Given the description of an element on the screen output the (x, y) to click on. 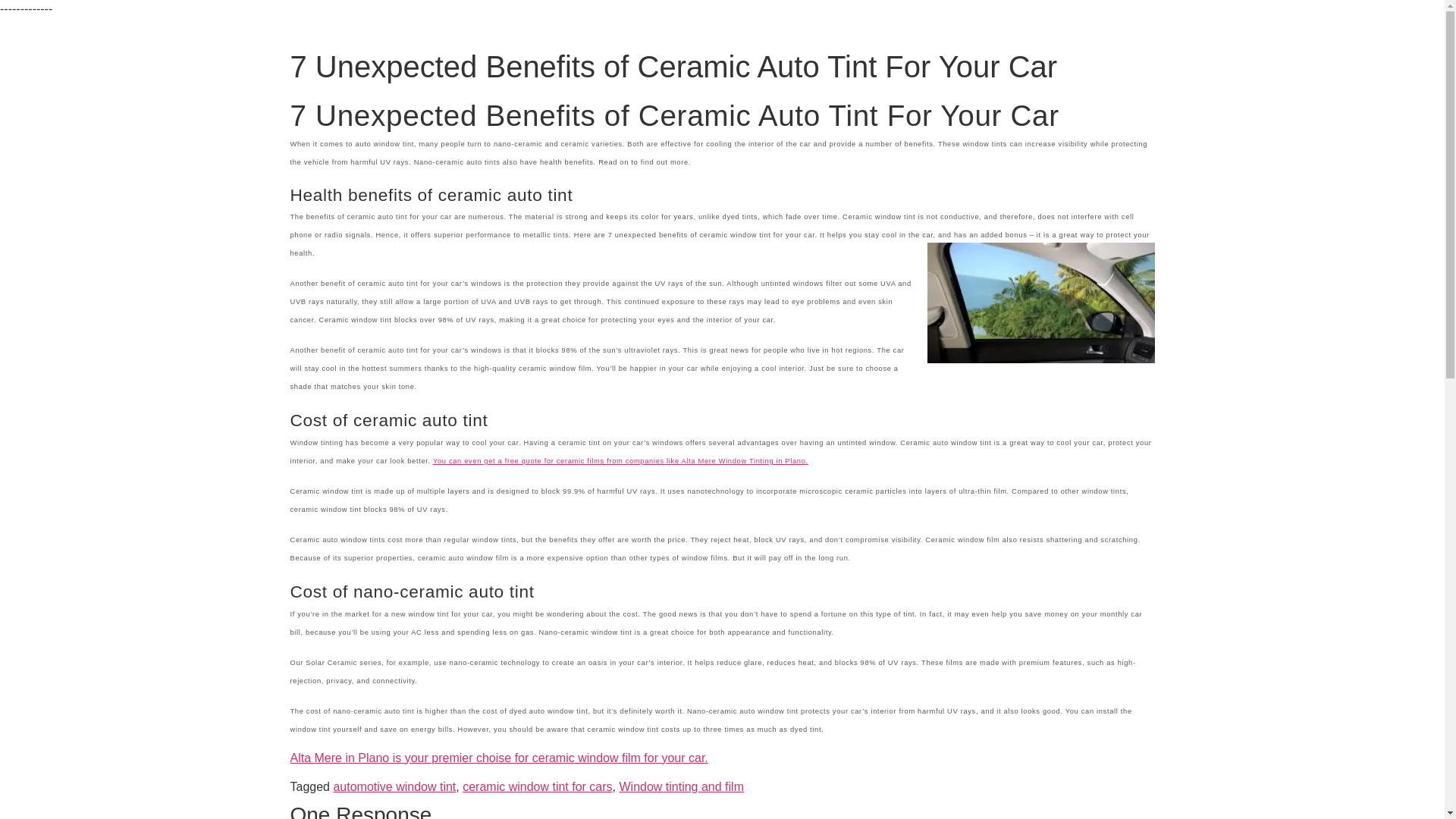
Window tinting and film (681, 786)
ceramic window tint for cars (537, 786)
automotive window tint (394, 786)
